Given the description of an element on the screen output the (x, y) to click on. 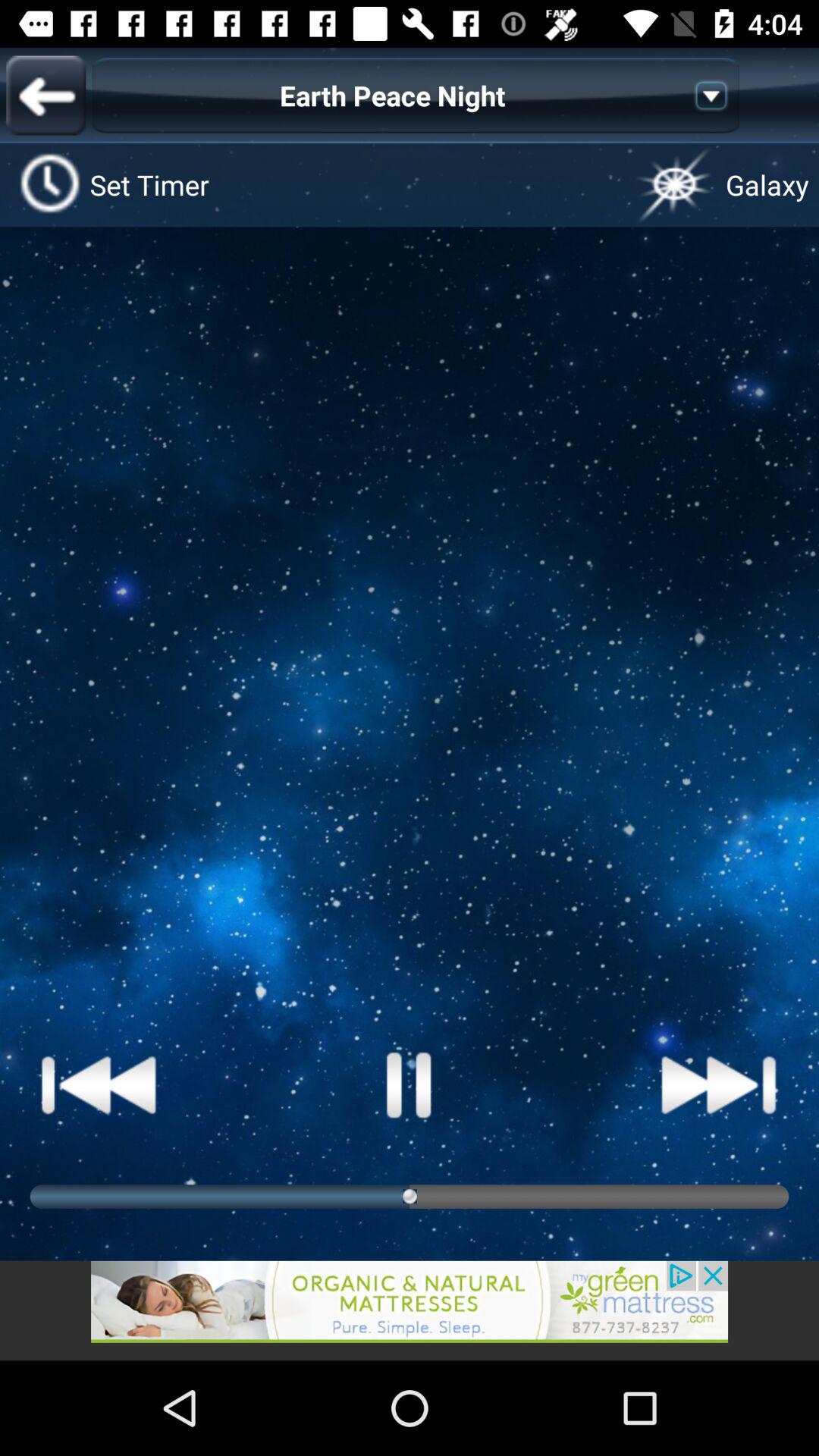
pause button (409, 1084)
